Given the description of an element on the screen output the (x, y) to click on. 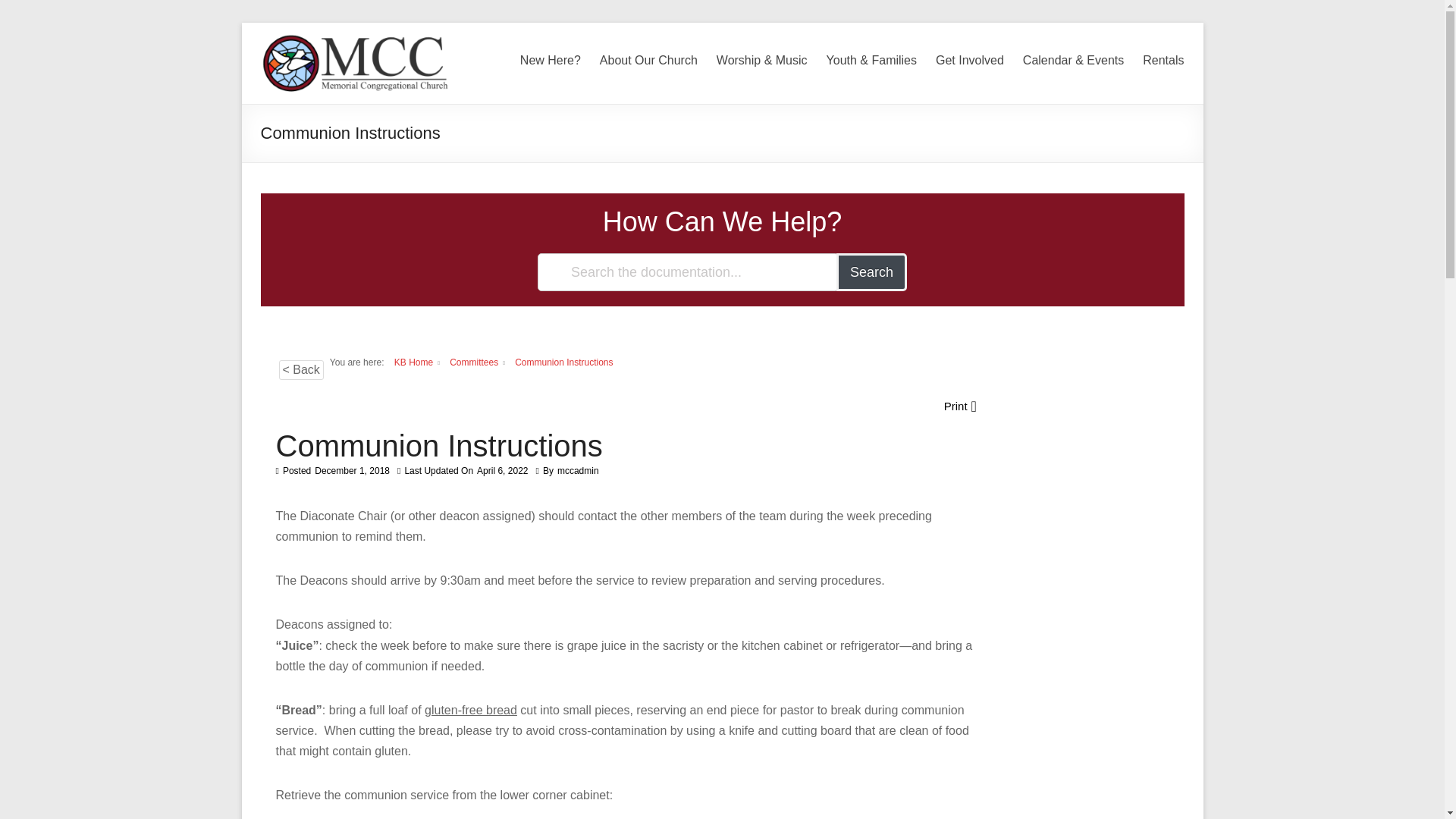
Memorial Congregational Church of Sudbury, MA (351, 125)
New Here? (549, 60)
About Our Church (648, 60)
Get Involved (970, 60)
Memorial Congregational Church of Sudbury, MA (351, 125)
